Given the description of an element on the screen output the (x, y) to click on. 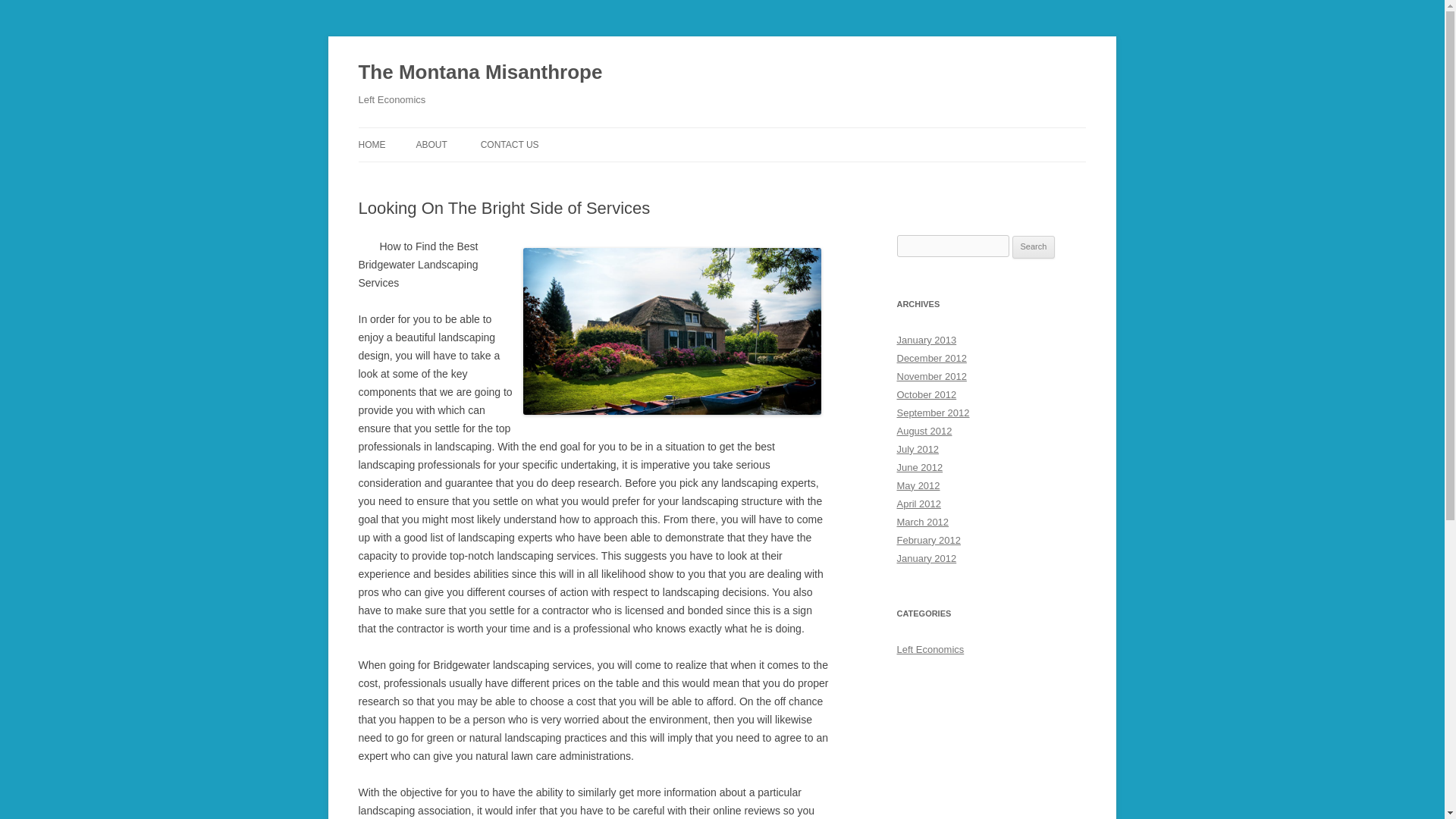
April 2012 (918, 503)
December 2012 (931, 357)
CONTACT US (509, 144)
August 2012 (924, 430)
September 2012 (932, 412)
January 2012 (926, 558)
The Montana Misanthrope (480, 72)
February 2012 (927, 540)
Search (1033, 246)
ABOUT (430, 144)
May 2012 (917, 485)
April 2012 (918, 503)
January 2013 (926, 339)
